Given the description of an element on the screen output the (x, y) to click on. 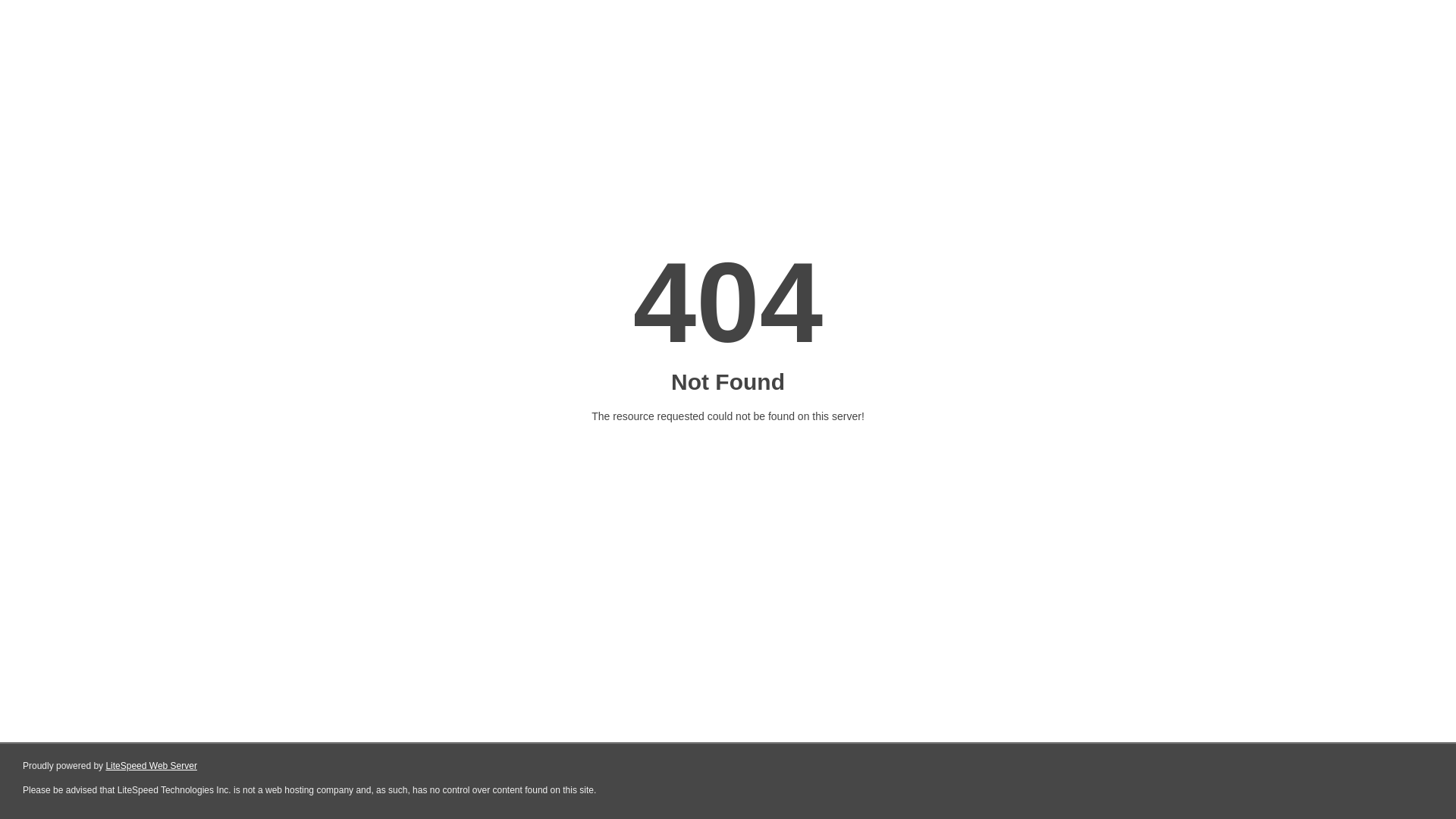
LiteSpeed Web Server Element type: text (151, 765)
